Given the description of an element on the screen output the (x, y) to click on. 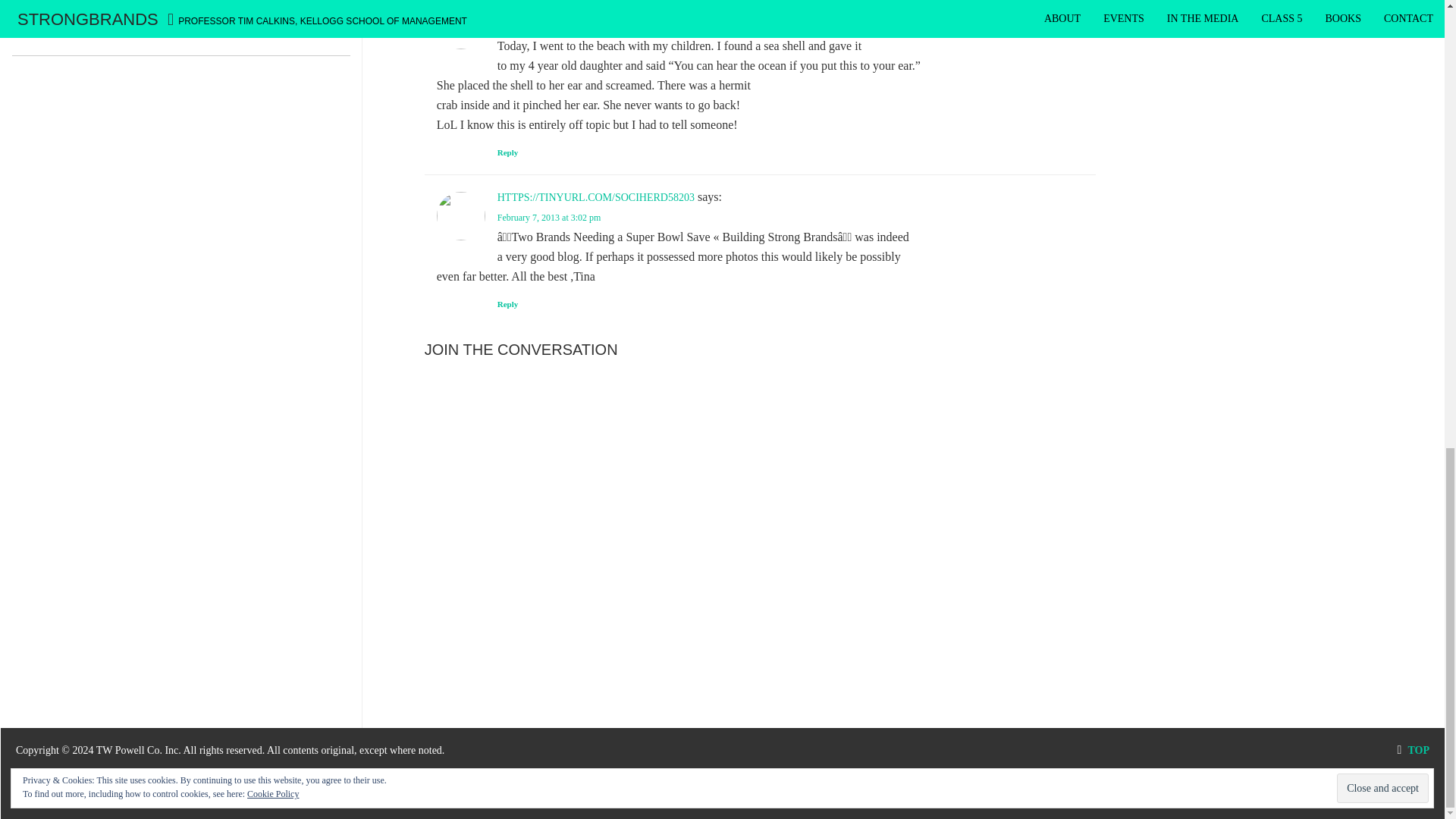
Reply (507, 303)
April 1, 2013 at 7:40 pm (542, 26)
PENIS ENLARGEMENT (552, 6)
February 7, 2013 at 3:02 pm (549, 217)
Reply (507, 152)
